Given the description of an element on the screen output the (x, y) to click on. 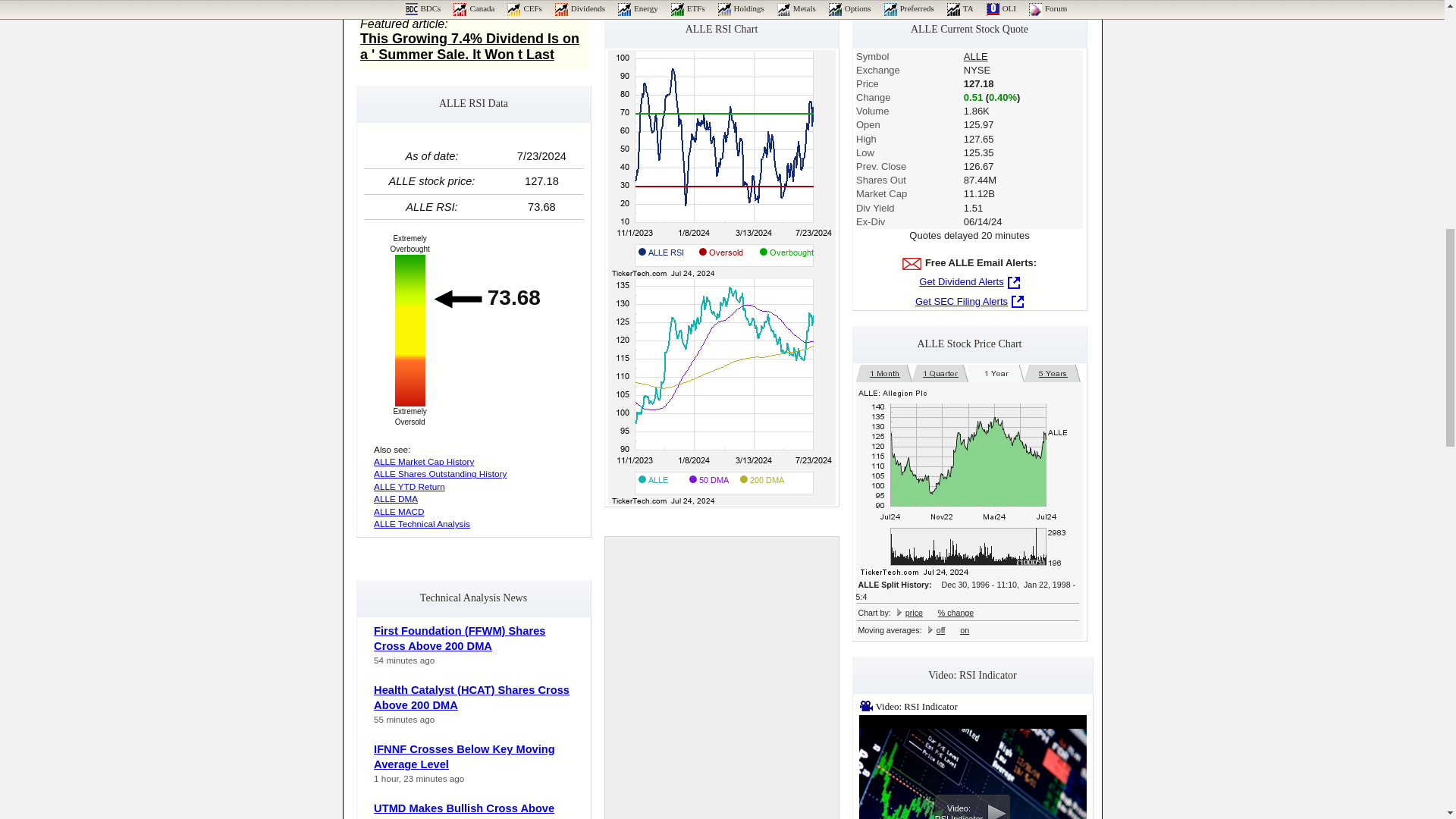
ALLE MACD (398, 511)
ALLE Technical Analysis (422, 523)
IFNNF Crosses Below Key Moving Average Level (464, 756)
ALLE Shares Outstanding History (440, 473)
ALLE Market Cap History (424, 461)
UTMD Makes Bullish Cross Above Critical Moving Average (464, 810)
ALLE YTD Return (409, 486)
ALLE DMA (395, 498)
